Given the description of an element on the screen output the (x, y) to click on. 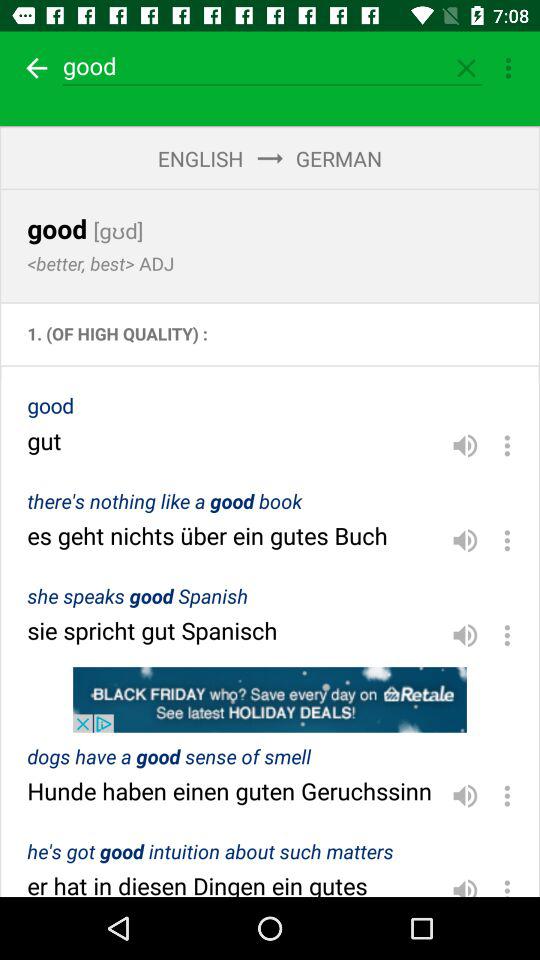
sound settings (465, 796)
